Given the description of an element on the screen output the (x, y) to click on. 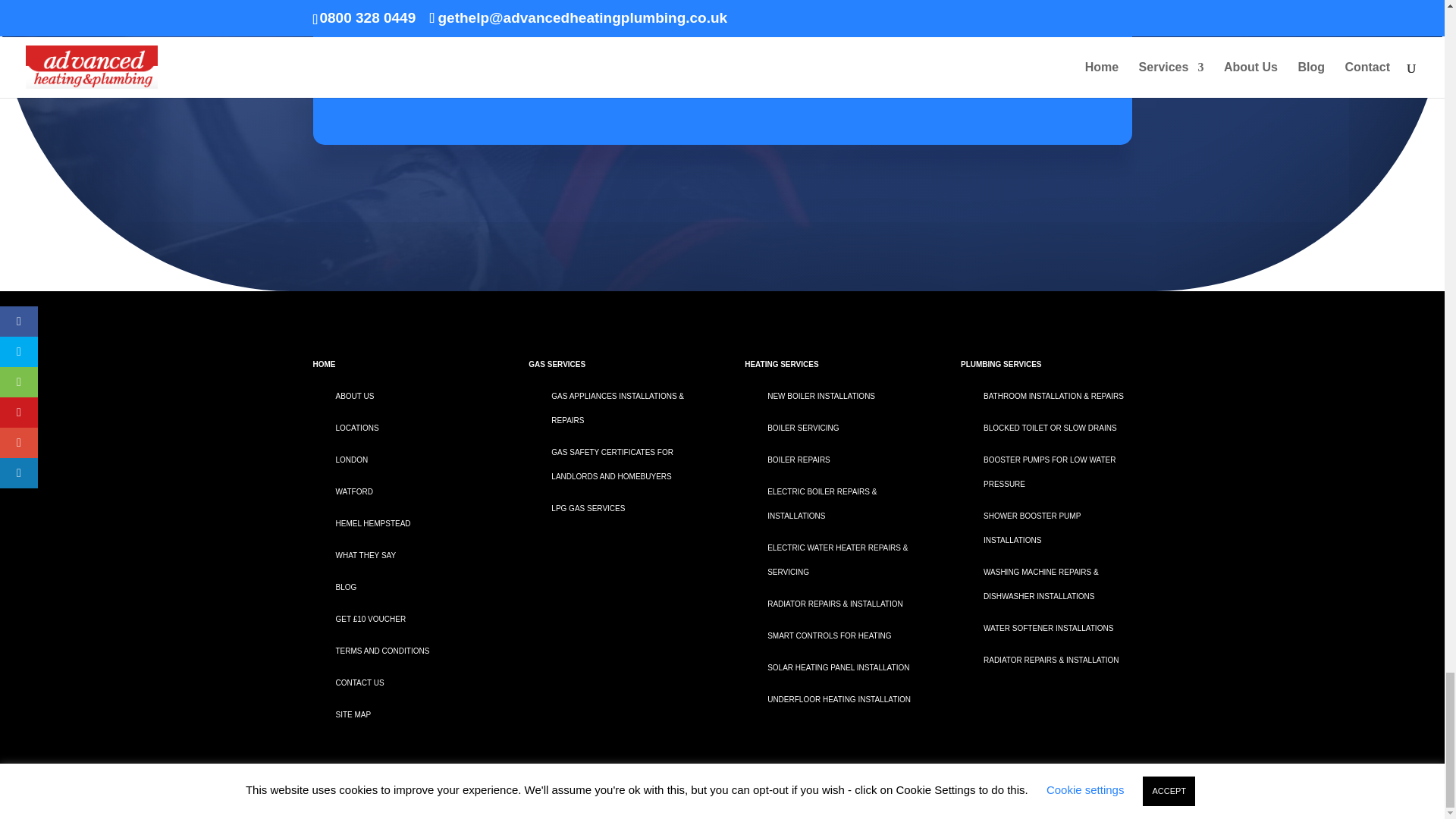
testimonials (365, 555)
Join our club (370, 619)
Home (323, 364)
Terms and conditions (381, 651)
Plumber in Watford (353, 491)
Hemel Hempstead plumbing (372, 523)
LONDON PLUMBER (351, 459)
locations we operate in (356, 428)
About us (354, 396)
